Given the description of an element on the screen output the (x, y) to click on. 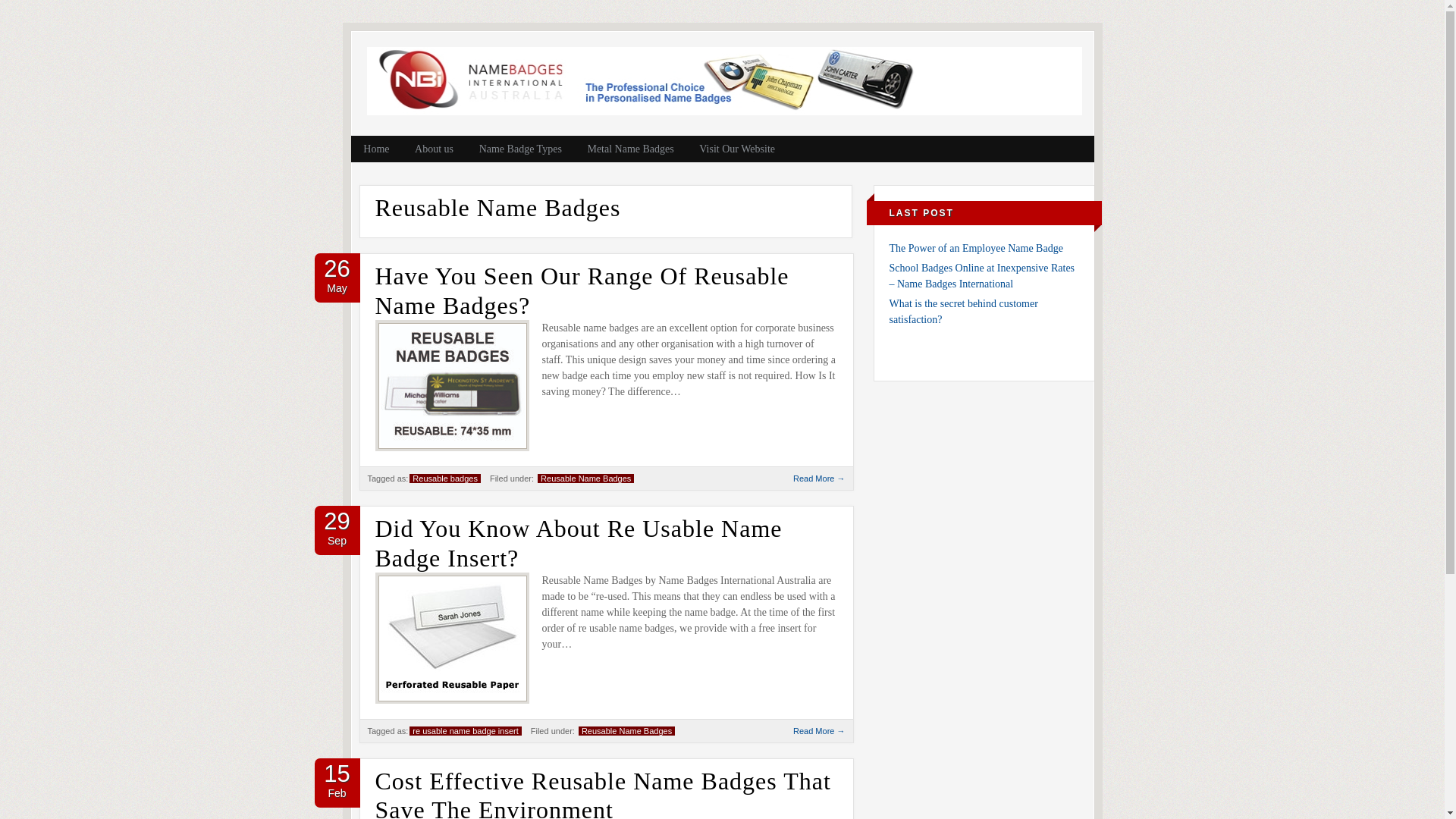
What is the secret behind customer satisfaction? Element type: text (962, 311)
About us Element type: text (433, 148)
Have You Seen Our Range Of Reusable Name Badges? Element type: hover (451, 445)
Metal Name Badges Element type: text (630, 148)
Reusable Name Badges Element type: text (626, 730)
Visit Our Website Element type: text (737, 148)
Did You Know About Re Usable Name Badge Insert? Element type: text (577, 542)
Did you know about re usable name badge insert? Element type: hover (451, 697)
Have You Seen Our Range Of Reusable Name Badges? Element type: text (581, 290)
re usable name badge insert Element type: text (464, 730)
Name Badge Types Element type: text (520, 148)
Reusable Name Badges Element type: text (585, 478)
Home Element type: text (375, 148)
Reusable badges Element type: text (444, 478)
The Power of an Employee Name Badge Element type: text (975, 248)
